Given the description of an element on the screen output the (x, y) to click on. 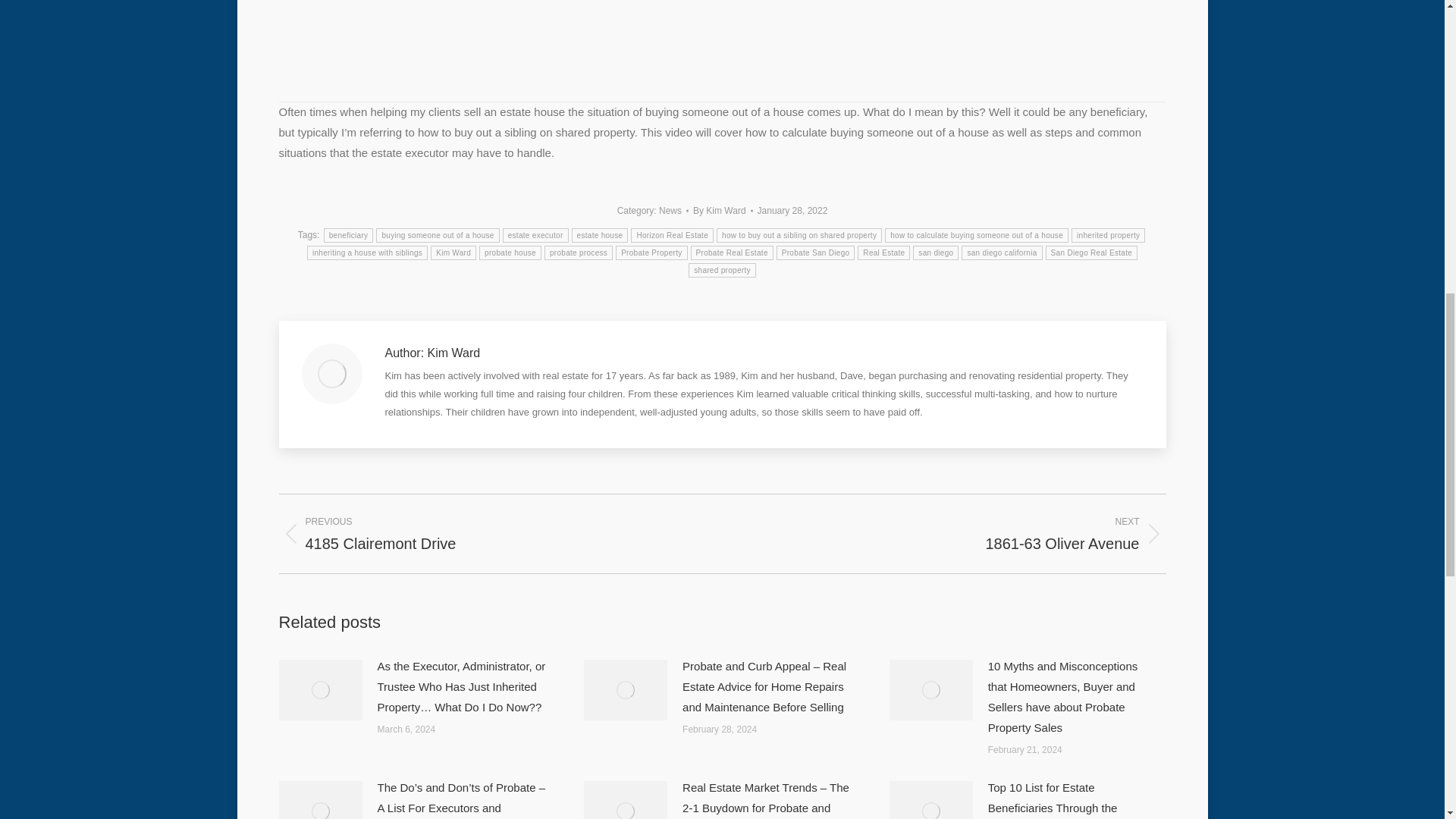
View all posts by Kim Ward (722, 210)
1:12 pm (792, 210)
